Given the description of an element on the screen output the (x, y) to click on. 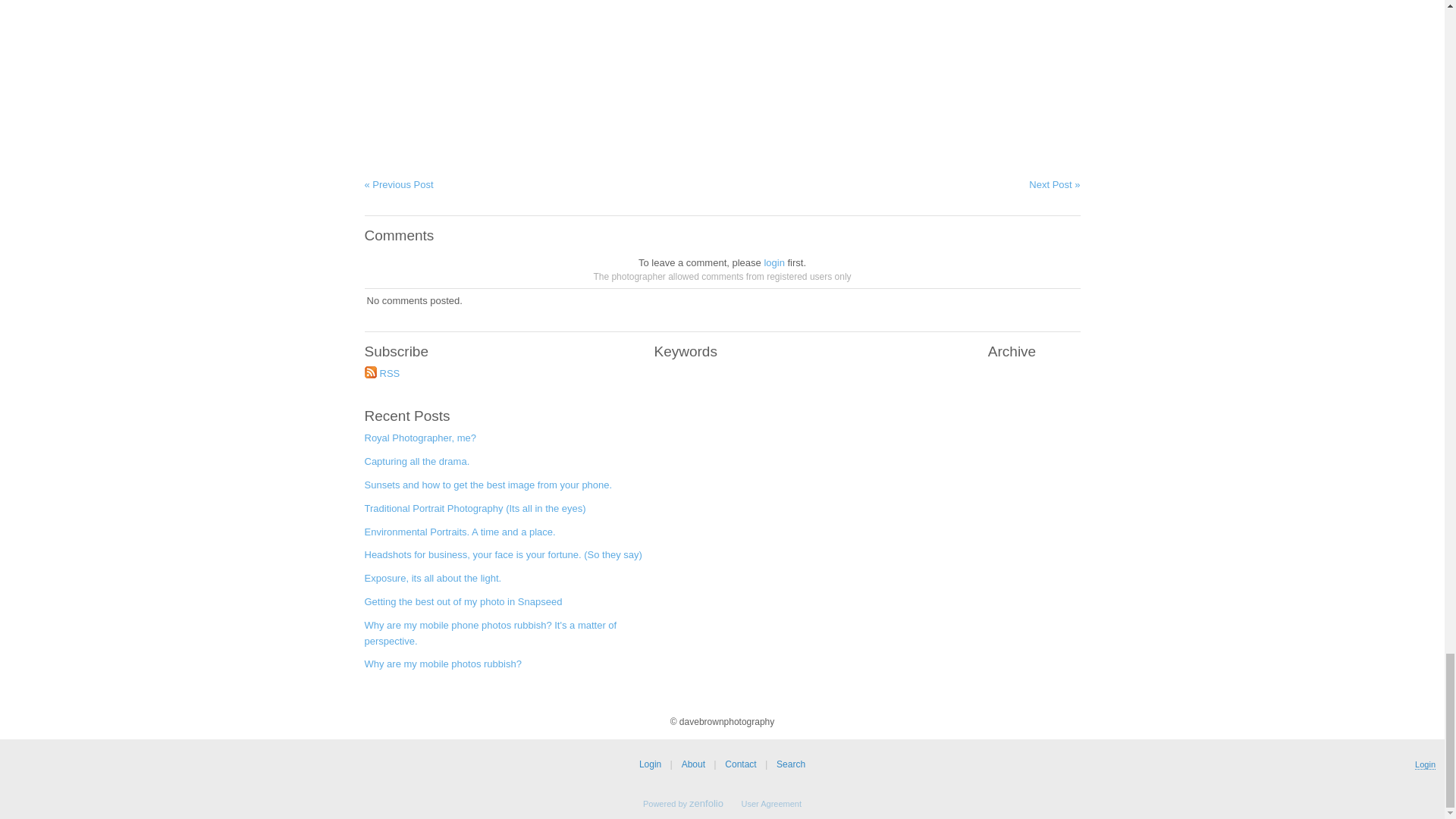
Capturing all the drama. (503, 465)
Why are my mobile photos rubbish? (503, 668)
login (773, 262)
Royal Photographer, me? (503, 442)
Exposure, its all about the light. (503, 582)
RSS (503, 377)
Sunsets and how to get the best image from your phone. (503, 489)
Environmental Portraits. A time and a place. (503, 535)
Getting the best out of my photo in Snapseed (503, 606)
